Given the description of an element on the screen output the (x, y) to click on. 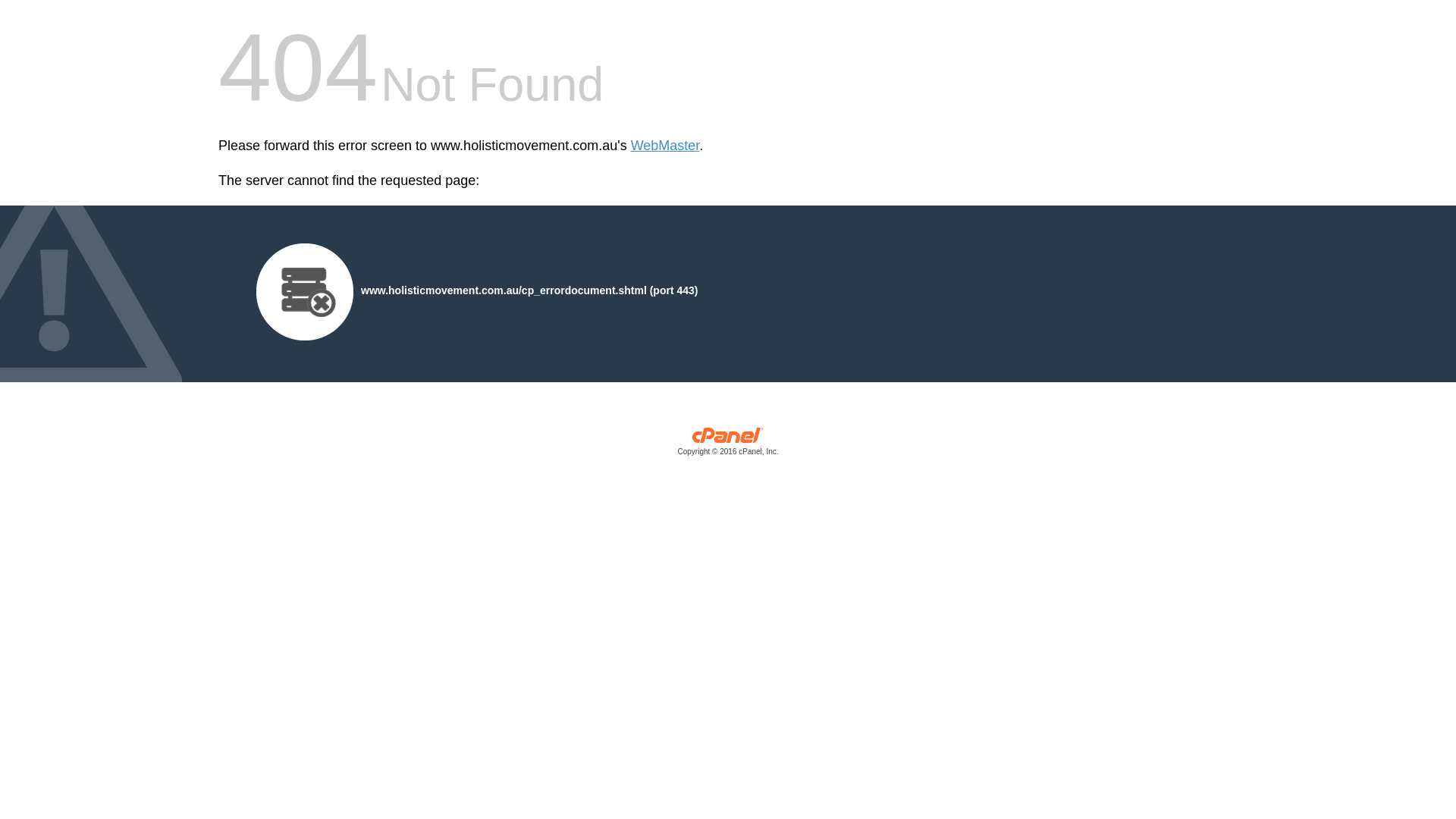
WebMaster Element type: text (664, 145)
